Given the description of an element on the screen output the (x, y) to click on. 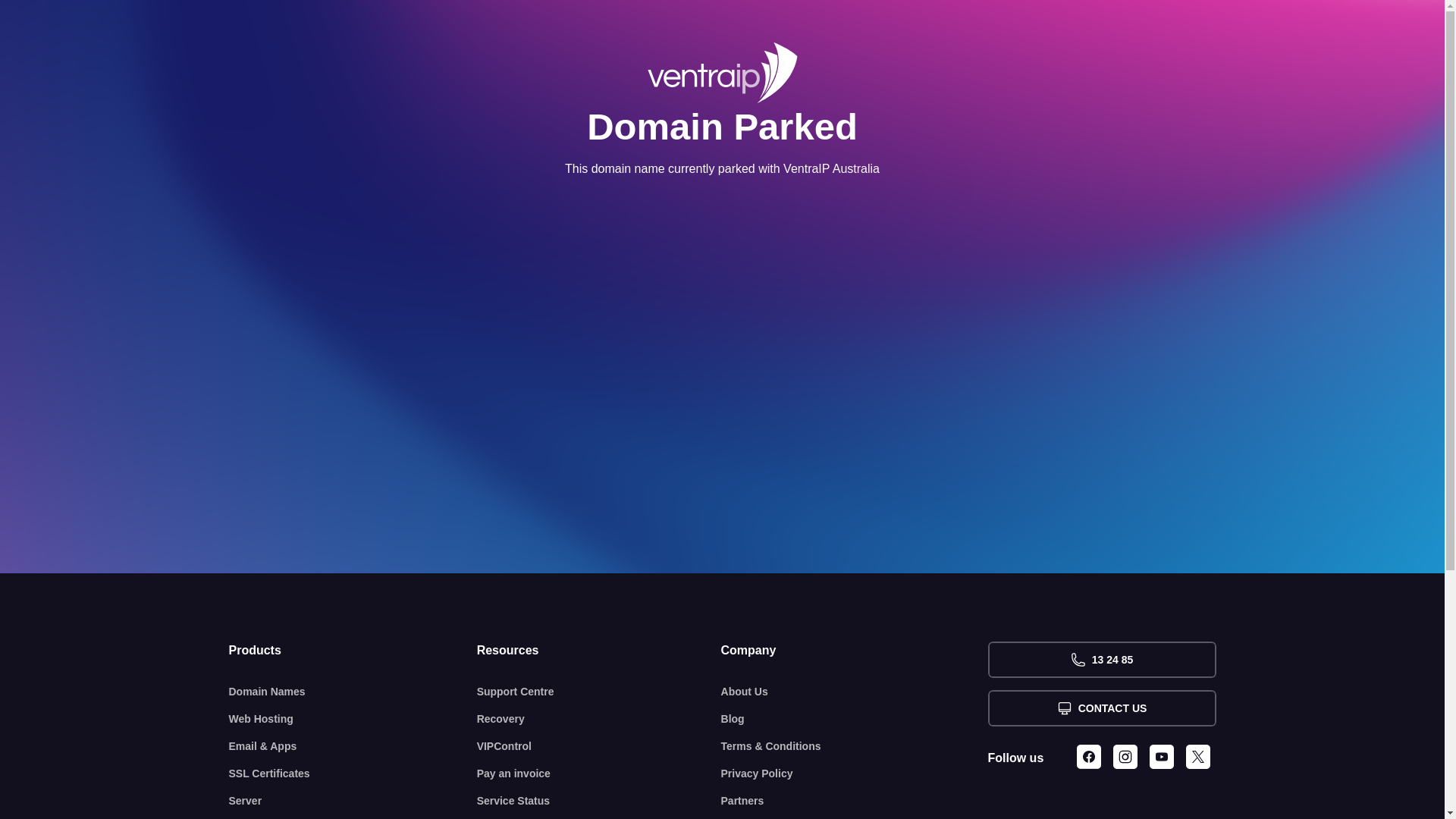
Blog Element type: text (854, 718)
Service Status Element type: text (598, 800)
Support Centre Element type: text (598, 691)
SSL Certificates Element type: text (352, 773)
Server Element type: text (352, 800)
VIPControl Element type: text (598, 745)
Domain Names Element type: text (352, 691)
Terms & Conditions Element type: text (854, 745)
Pay an invoice Element type: text (598, 773)
Partners Element type: text (854, 800)
About Us Element type: text (854, 691)
Email & Apps Element type: text (352, 745)
13 24 85 Element type: text (1101, 659)
CONTACT US Element type: text (1101, 708)
Web Hosting Element type: text (352, 718)
Privacy Policy Element type: text (854, 773)
Recovery Element type: text (598, 718)
